Given the description of an element on the screen output the (x, y) to click on. 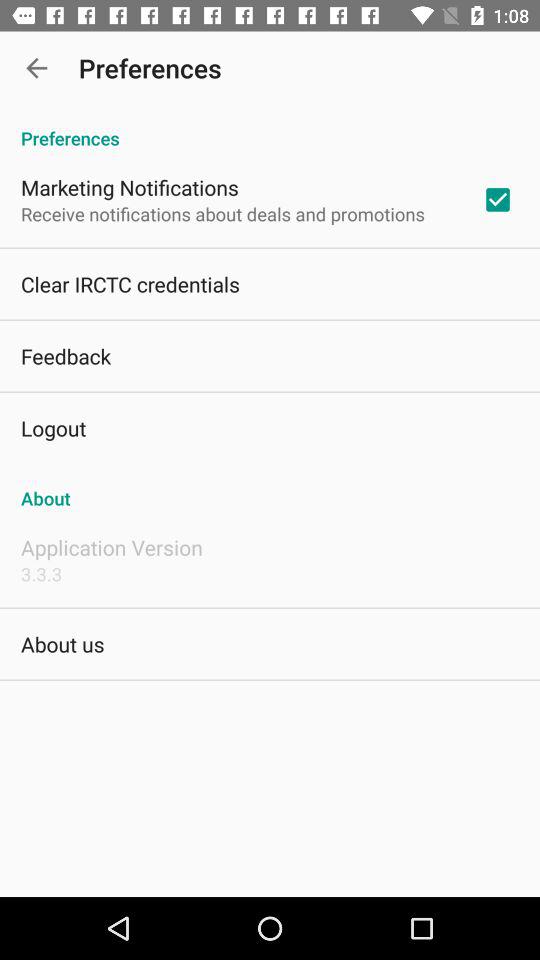
press icon at the bottom left corner (62, 644)
